Given the description of an element on the screen output the (x, y) to click on. 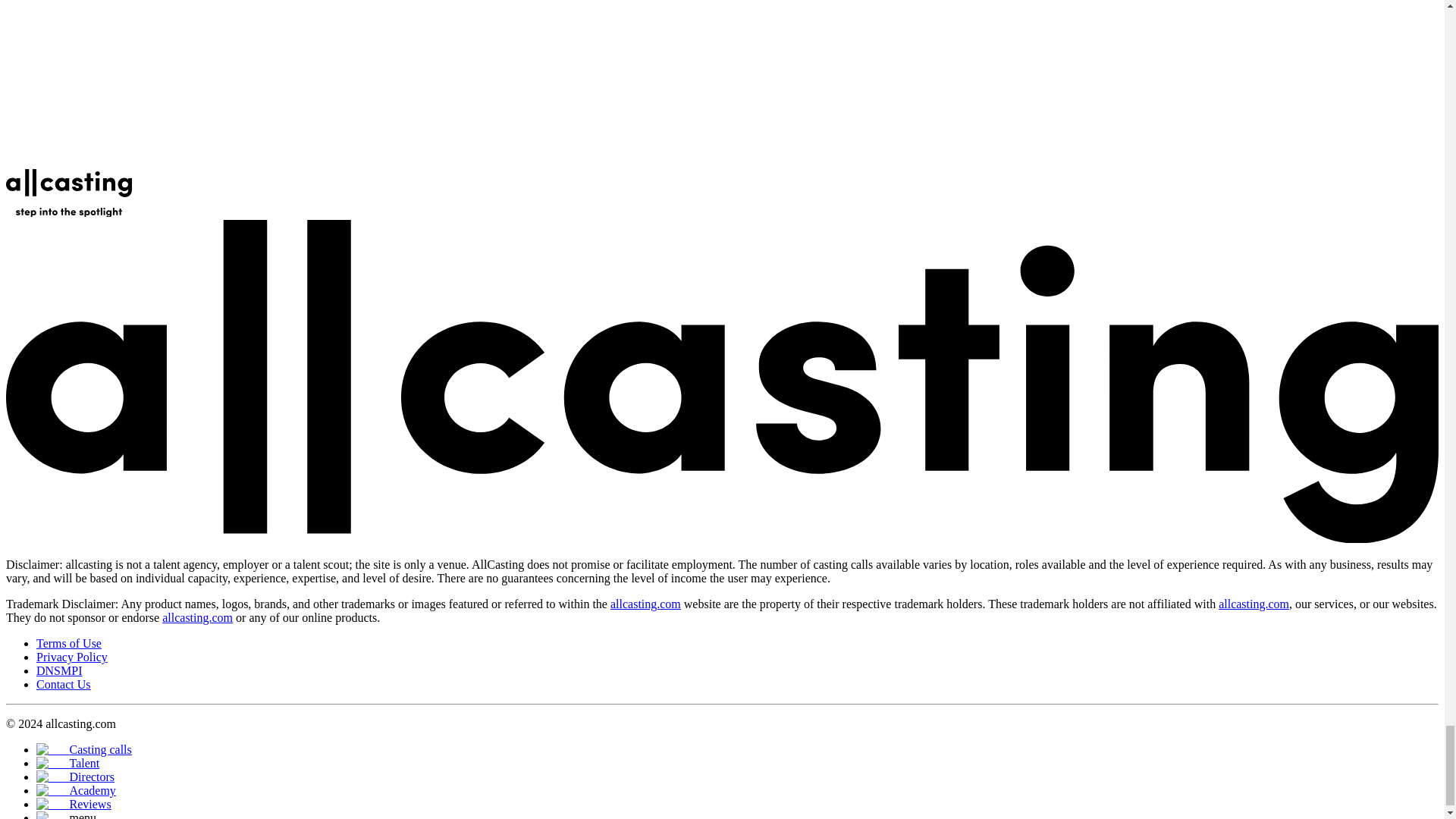
Terms of Use (68, 643)
allcasting.com (1253, 603)
allcasting.com (196, 617)
Privacy Policy (71, 656)
allcasting.com (645, 603)
